Given the description of an element on the screen output the (x, y) to click on. 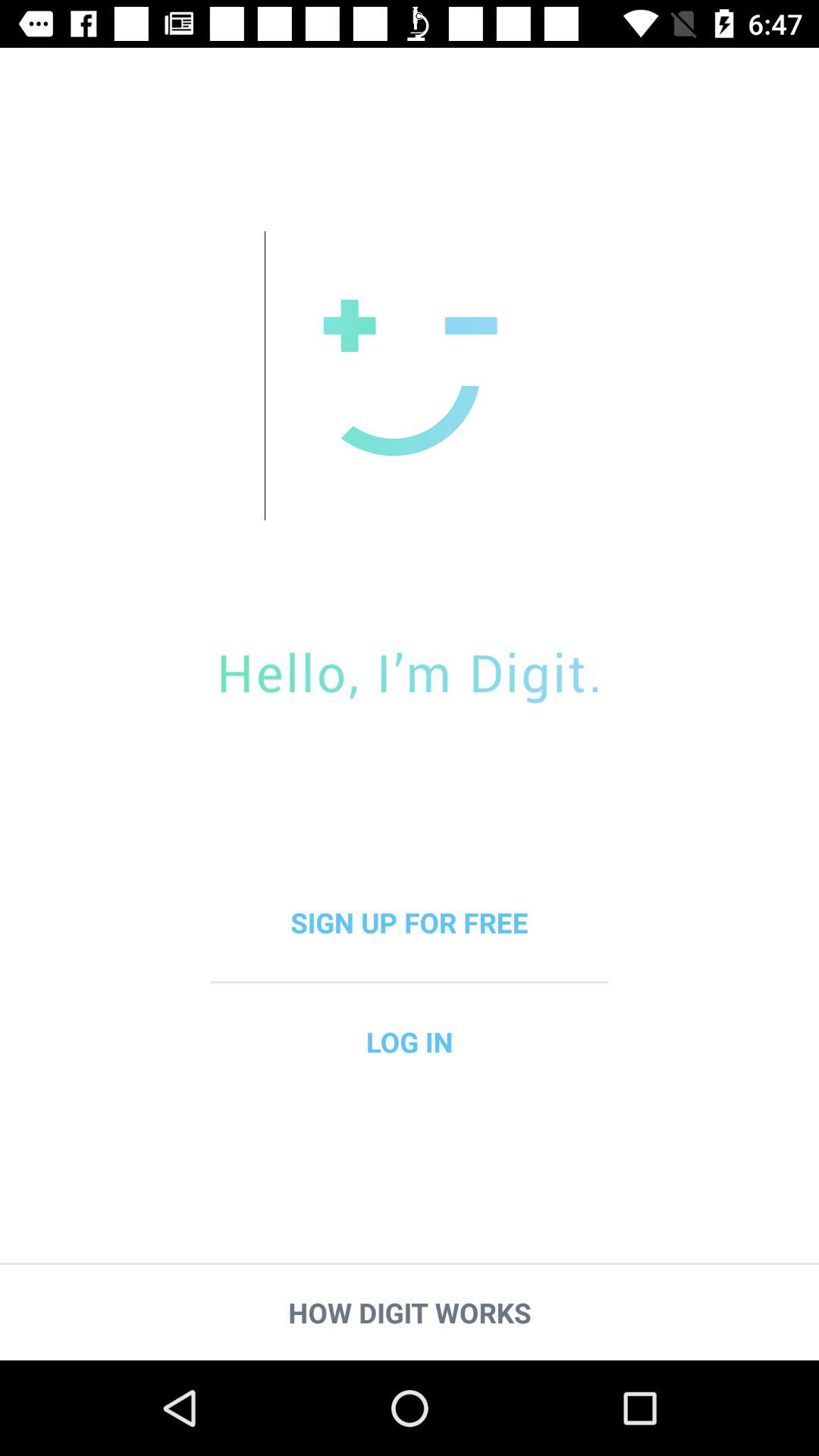
jump until the sign up for item (409, 922)
